Given the description of an element on the screen output the (x, y) to click on. 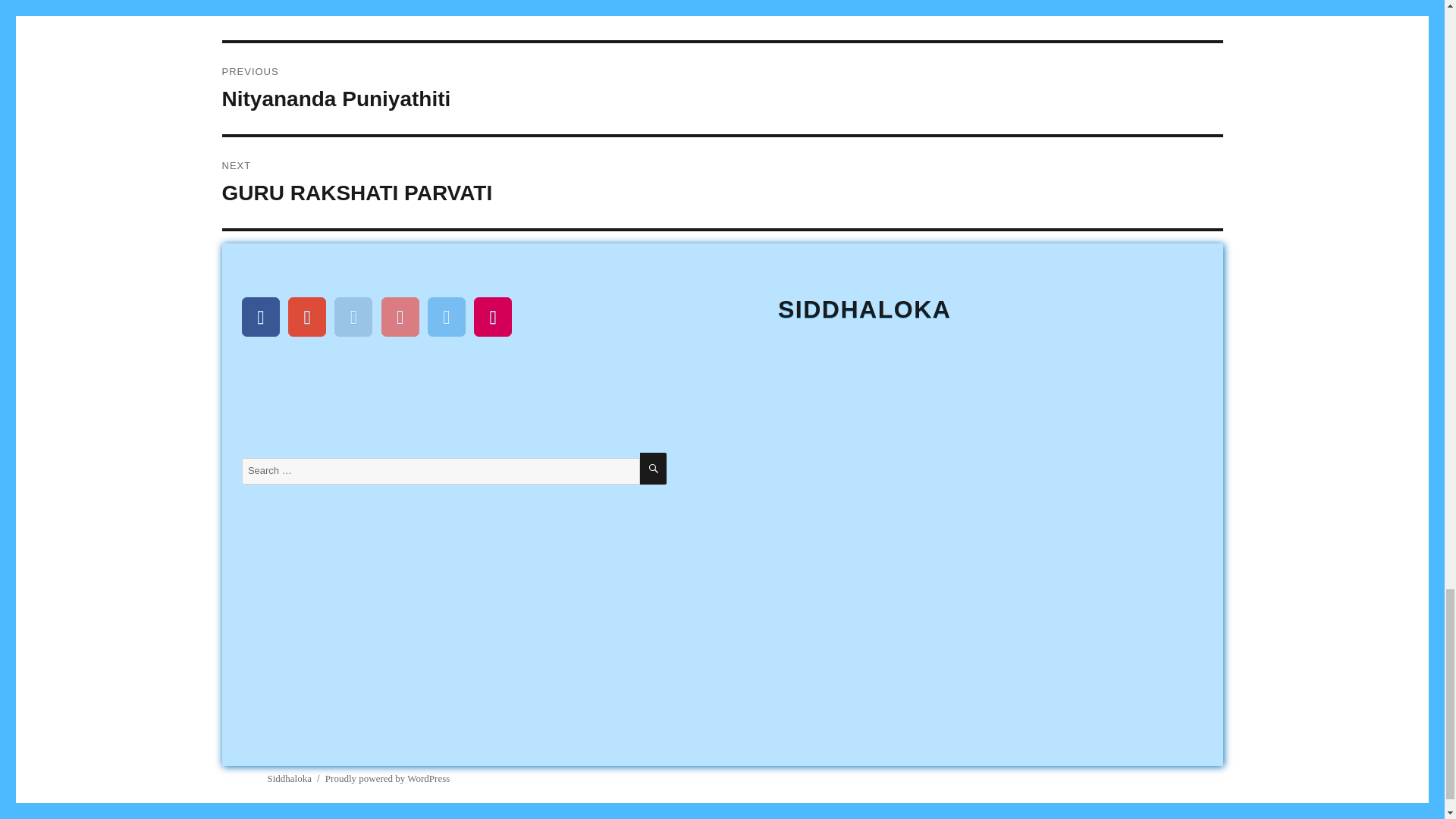
Siddhaloka on Pinterest (400, 316)
Siddhaloka on Facebook (260, 316)
Siddhaloka on Google (307, 316)
Siddhaloka on Flickr (722, 182)
Siddhaloka on Twitter (722, 88)
Siddhaloka on Envelope (493, 316)
